Given the description of an element on the screen output the (x, y) to click on. 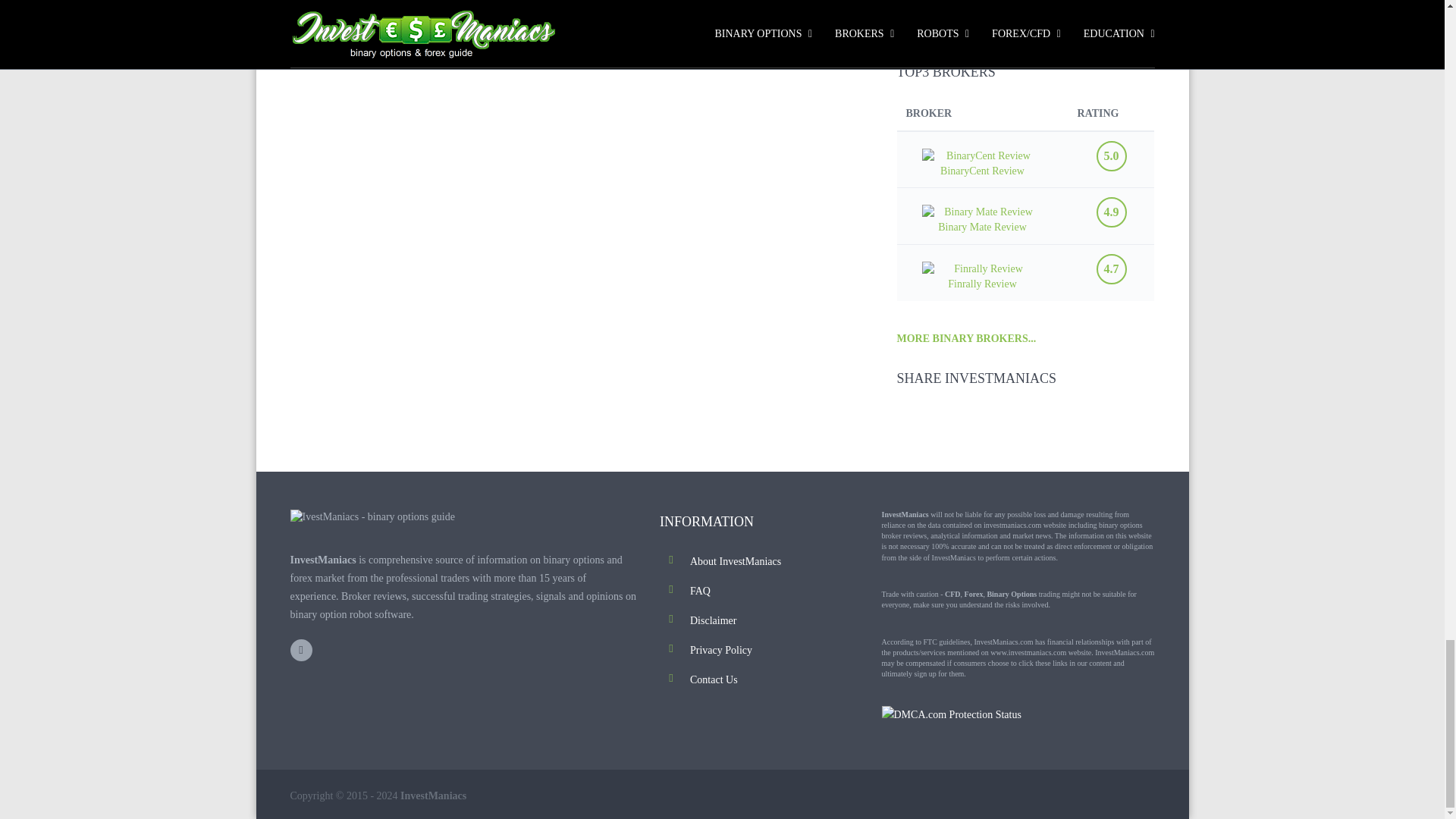
DMCA.com Protection Status (950, 714)
